Given the description of an element on the screen output the (x, y) to click on. 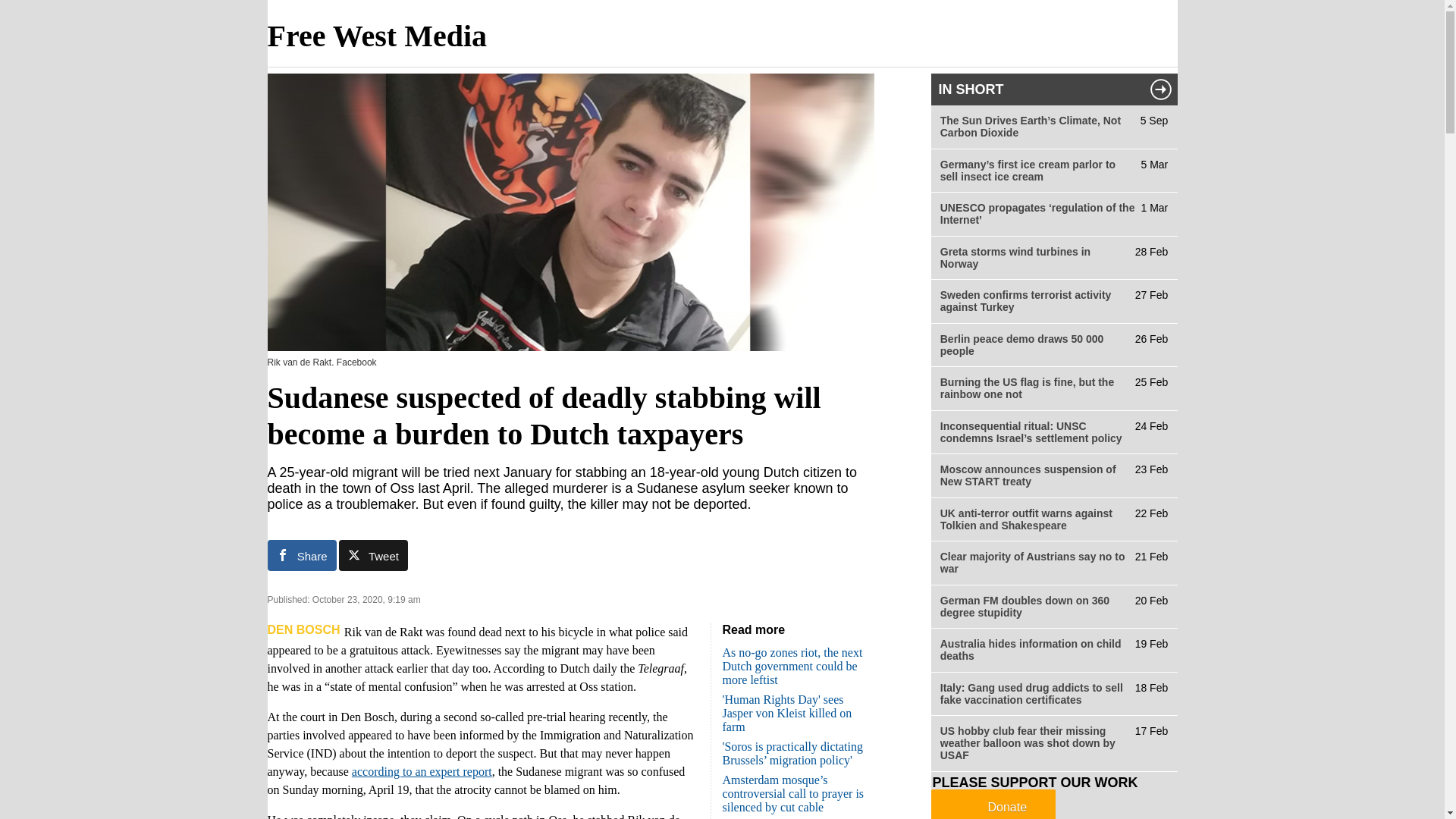
according to an expert report (422, 771)
Free West Media (376, 35)
Tweet (373, 554)
'Human Rights Day' sees Jasper von Kleist killed on farm (786, 712)
Share (301, 554)
